Given the description of an element on the screen output the (x, y) to click on. 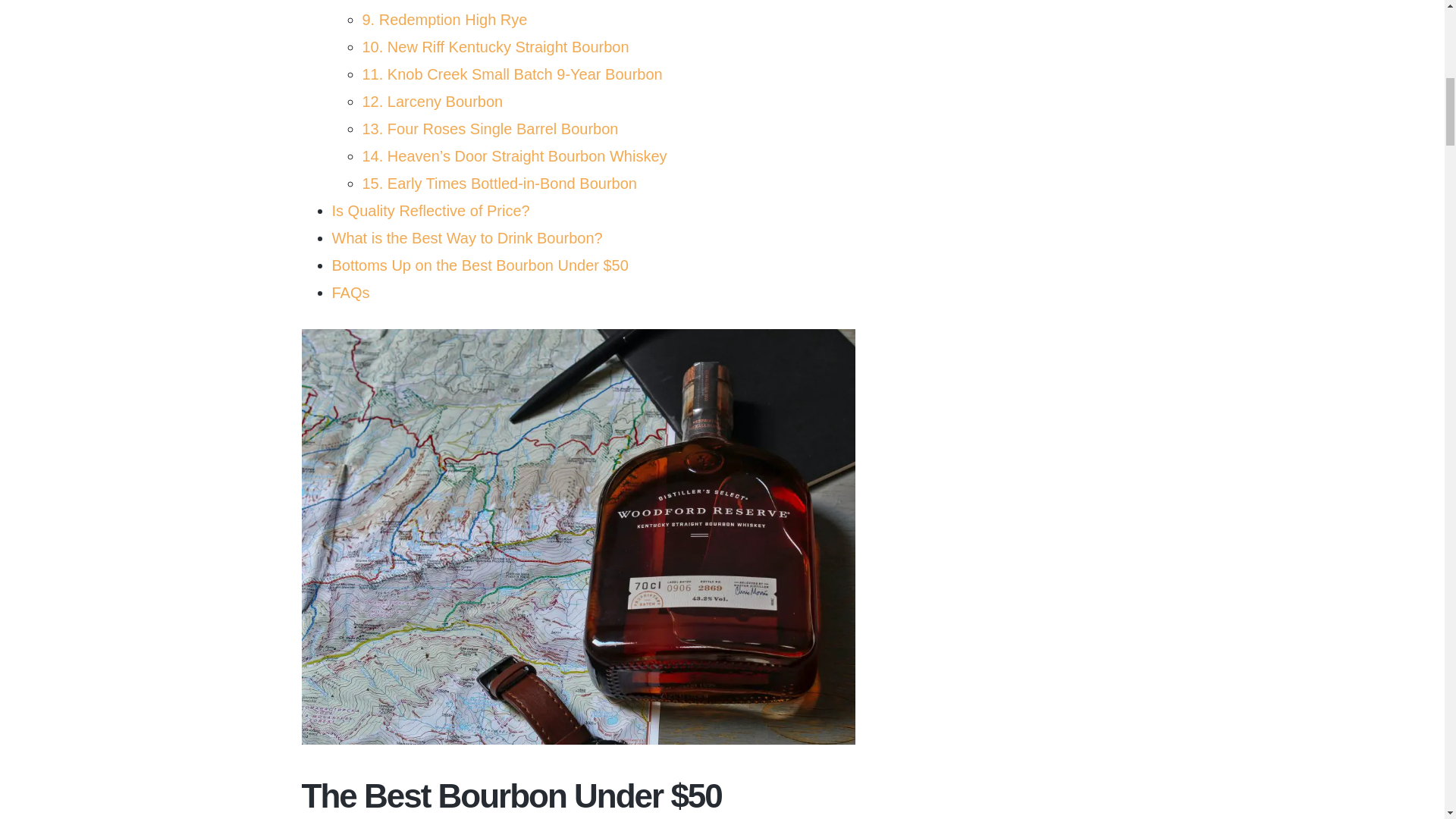
9. Redemption High Rye (444, 19)
12. Larceny Bourbon  (434, 101)
11. Knob Creek Small Batch 9-Year Bourbon (512, 74)
What is the Best Way to Drink Bourbon? (466, 238)
13. Four Roses Single Barrel Bourbon (490, 128)
10. New Riff Kentucky Straight Bourbon  (497, 46)
15. Early Times Bottled-in-Bond Bourbon (499, 183)
Is Quality Reflective of Price? (430, 210)
FAQs (350, 292)
